Given the description of an element on the screen output the (x, y) to click on. 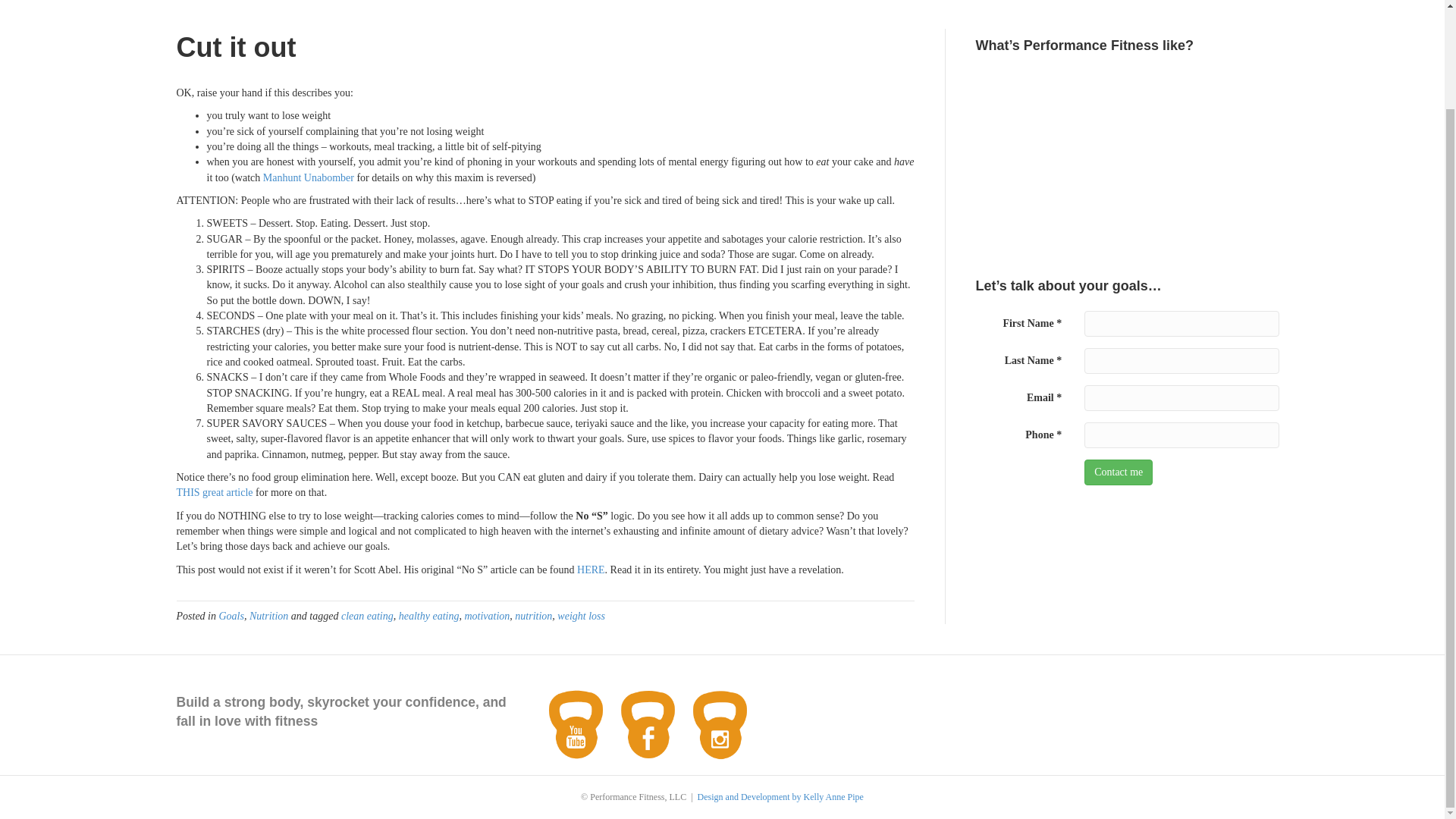
clean eating (366, 615)
Nutrition (268, 615)
nutrition (533, 615)
healthy eating (429, 615)
weight loss (581, 615)
THIS great article (213, 491)
Goals (230, 615)
Manhunt Unabomber (308, 177)
HERE (590, 568)
Contact me (1118, 472)
motivation (486, 615)
